Given the description of an element on the screen output the (x, y) to click on. 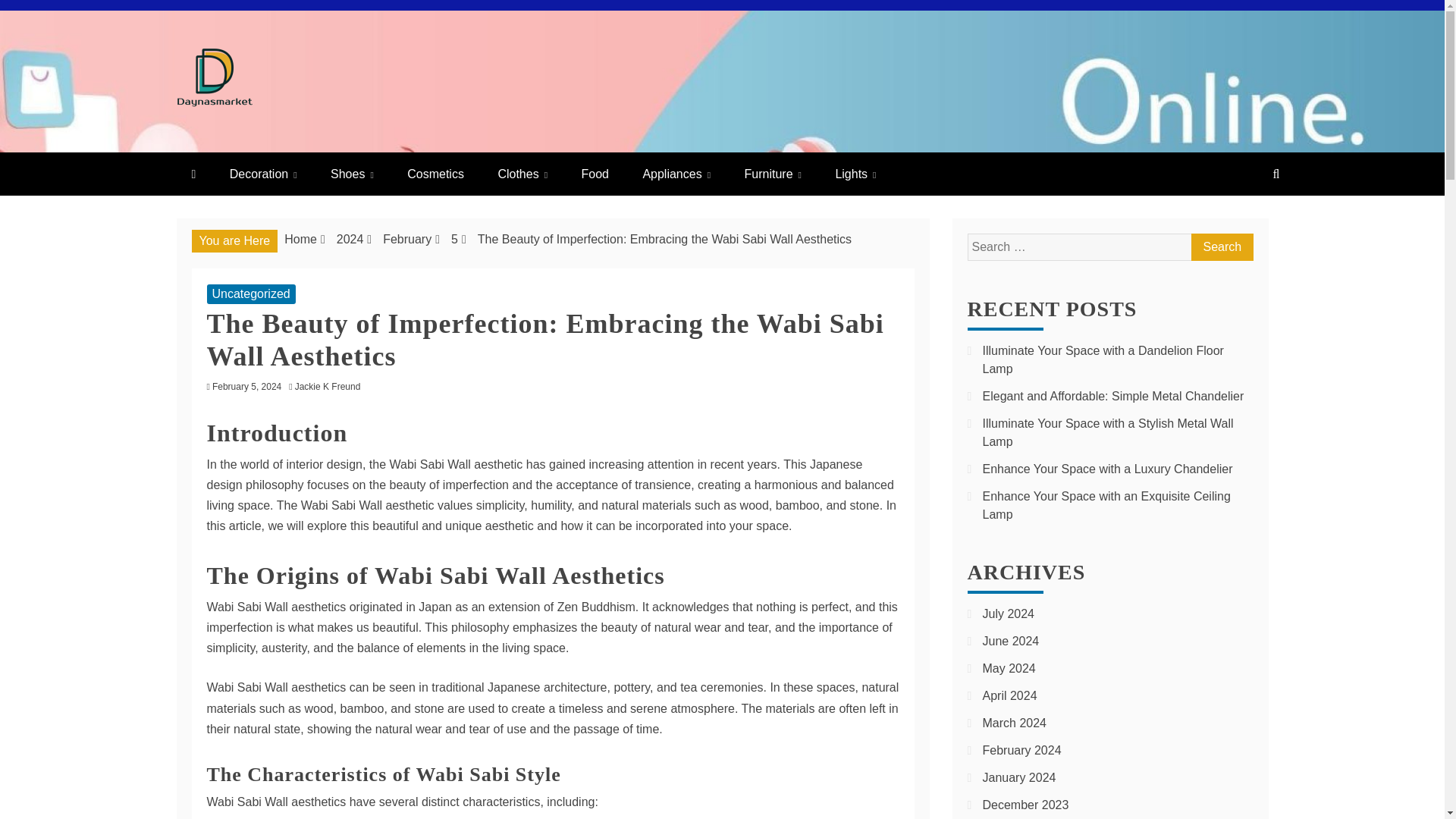
Search (1221, 247)
Home (300, 238)
Decoration (263, 173)
Clothes (521, 173)
Lights (855, 173)
Appliances (676, 173)
Shoes (351, 173)
DAYNASMARKET (343, 137)
Cosmetics (435, 173)
Furniture (772, 173)
Search (1221, 247)
Food (594, 173)
